Given the description of an element on the screen output the (x, y) to click on. 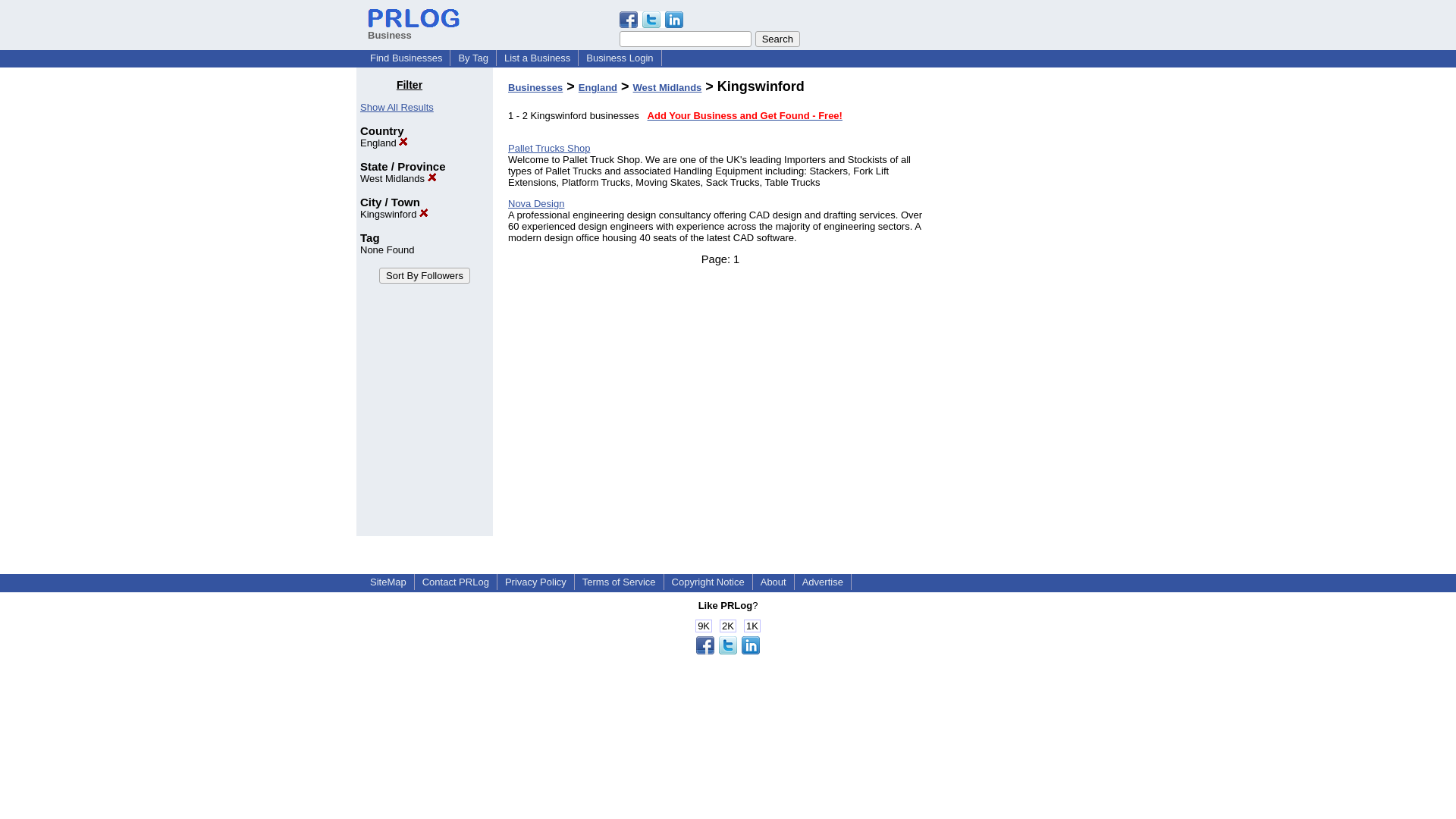
Business (414, 29)
Search (777, 38)
Show All Results (396, 107)
Contact PRLog (455, 581)
List a Business (536, 57)
Sort By Followers (424, 275)
West Midlands (397, 178)
Click to see the index with all filters cleared (396, 107)
Sort By Followers (424, 275)
Copyright Notice (708, 581)
